Given the description of an element on the screen output the (x, y) to click on. 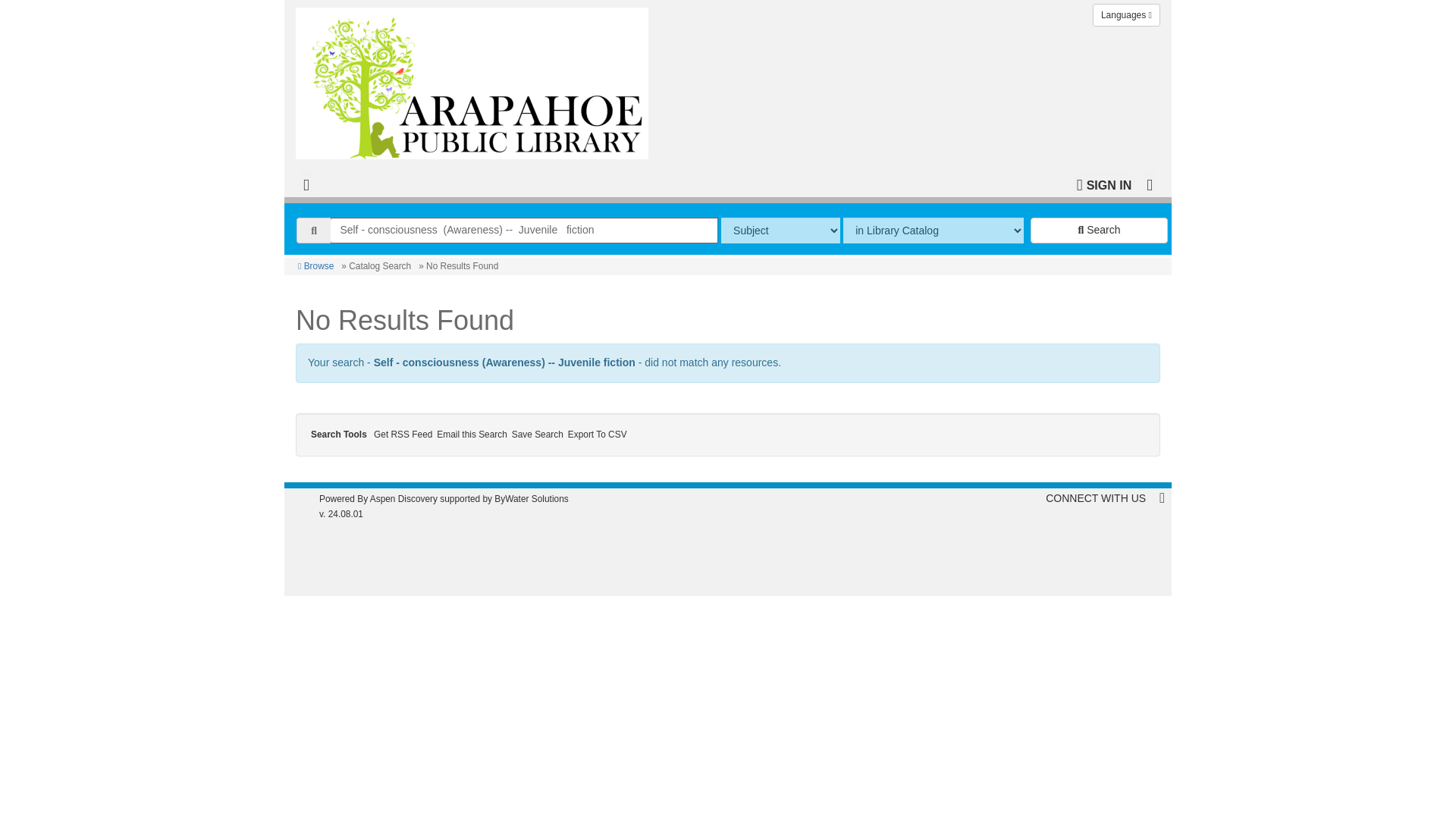
Languages  (1126, 15)
Get RSS Feed (405, 434)
Browse the catalog (315, 266)
Export To CSV (597, 434)
Browse (315, 266)
Login (1104, 183)
 Search (1098, 230)
Return to Catalog Home (475, 79)
SIGN IN (1104, 183)
